Given the description of an element on the screen output the (x, y) to click on. 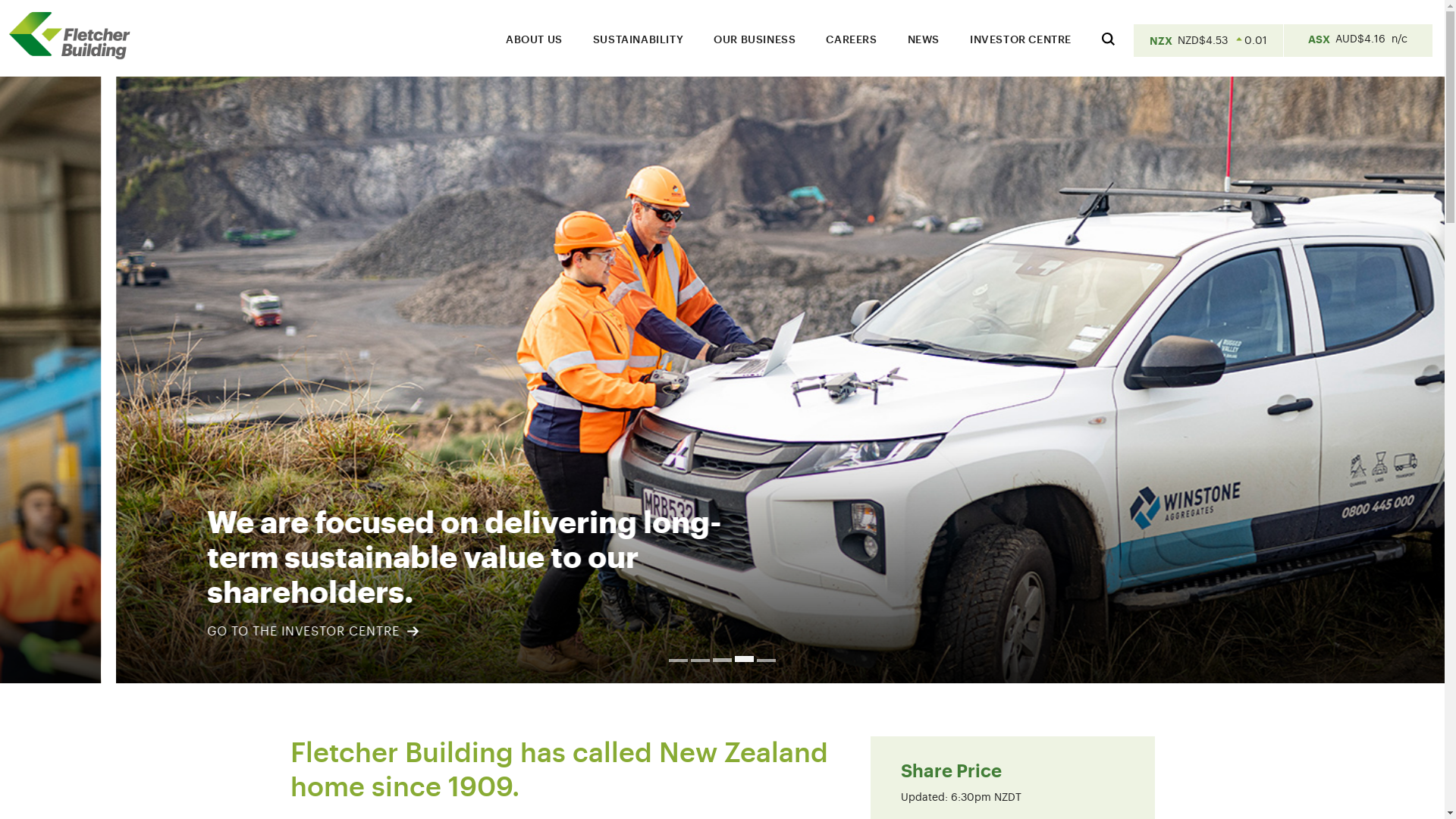
4 Element type: text (743, 660)
NZX NZD Element type: text (1208, 40)
5 Element type: text (765, 660)
3 Element type: text (721, 660)
2 Element type: text (699, 660)
Go Element type: text (1399, 530)
ASX AUD Element type: text (1357, 40)
1 Element type: text (677, 658)
FIND OUT MORE Element type: text (159, 631)
